Given the description of an element on the screen output the (x, y) to click on. 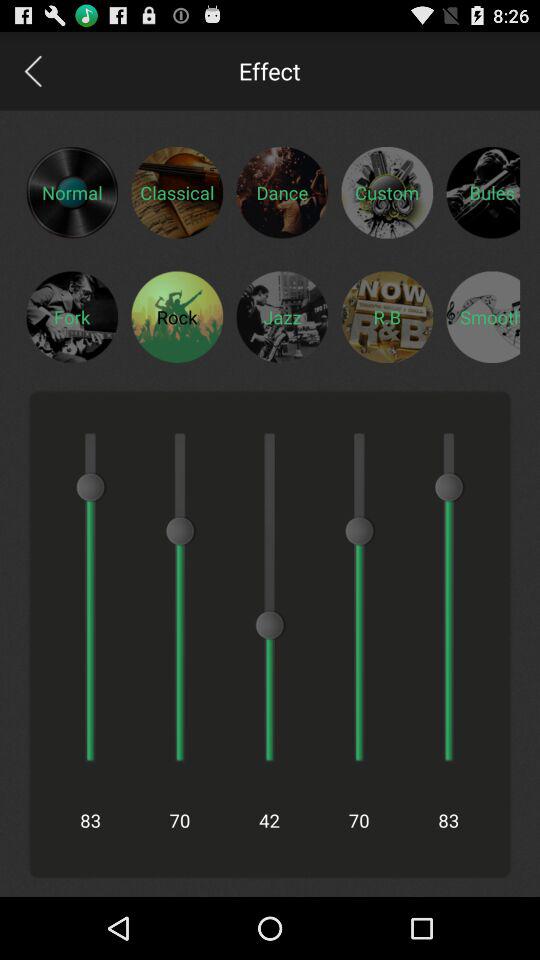
view eq for rb (387, 316)
